Given the description of an element on the screen output the (x, y) to click on. 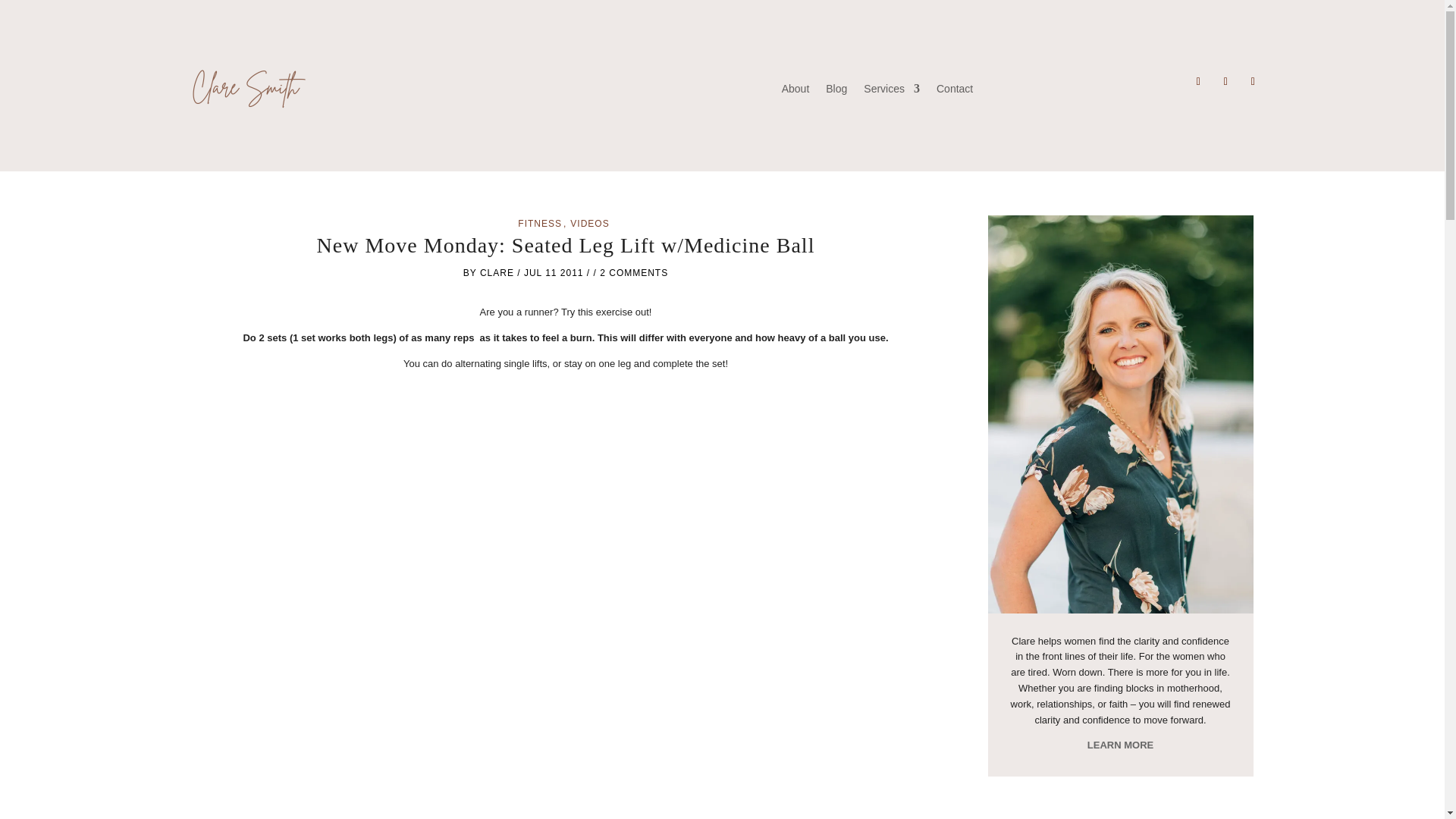
VIDEOS (589, 223)
2 COMMENTS (633, 272)
CLARE (496, 272)
Follow on Instagram (1225, 81)
Posts by Clare (496, 272)
FITNESS (542, 223)
Follow on Youtube (1252, 81)
Follow on Facebook (1198, 81)
